Given the description of an element on the screen output the (x, y) to click on. 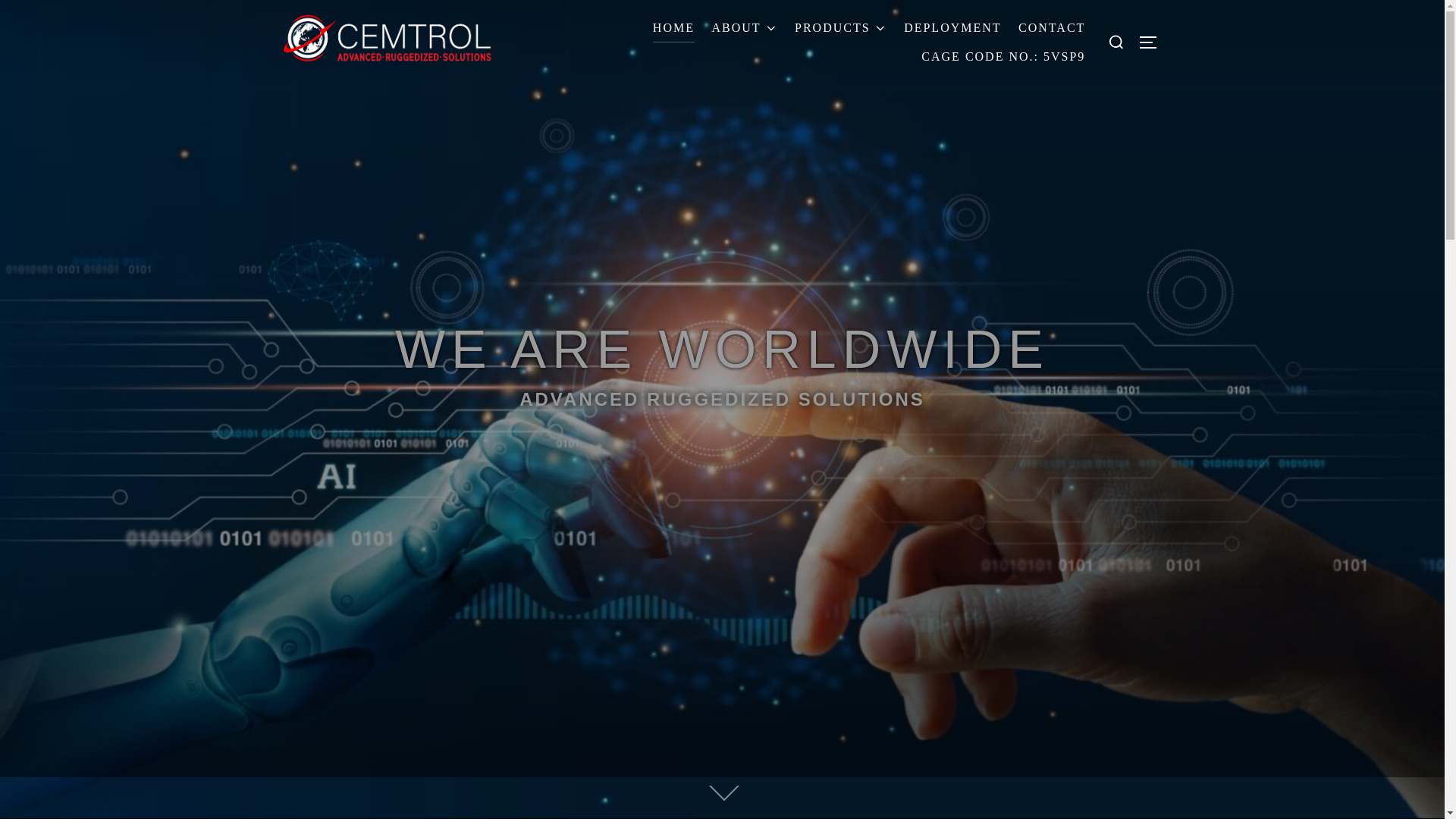
ABOUT (744, 27)
Scroll down to content (721, 794)
PRODUCTS (840, 27)
HOME (673, 27)
